Given the description of an element on the screen output the (x, y) to click on. 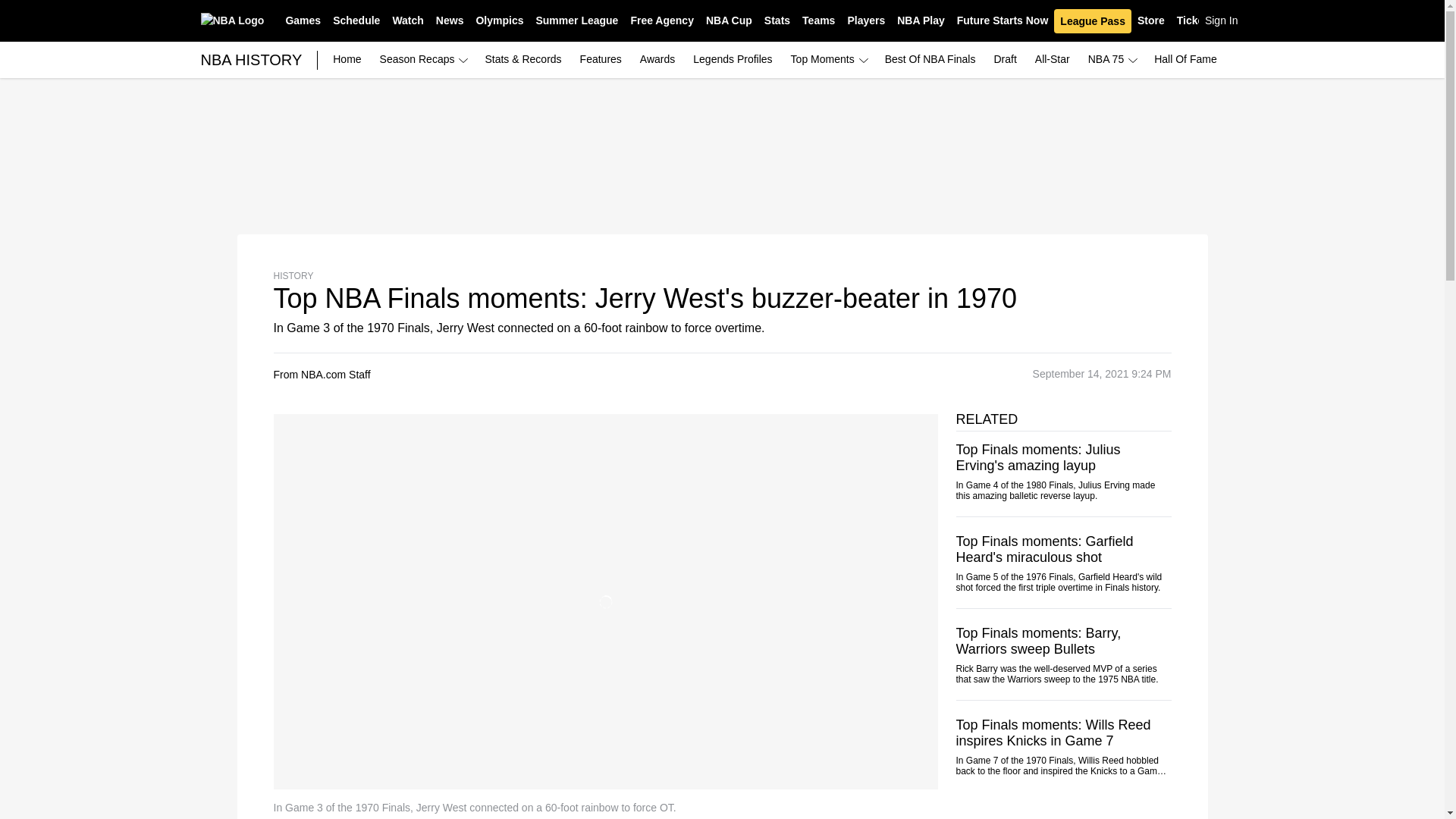
NBA Logo Homepage Button (231, 20)
Games (302, 20)
News (449, 20)
Free Agency (662, 20)
Stats (777, 20)
Schedule (355, 20)
Olympics (498, 20)
NBA (231, 20)
Watch (407, 20)
NBA Cup (729, 20)
